Given the description of an element on the screen output the (x, y) to click on. 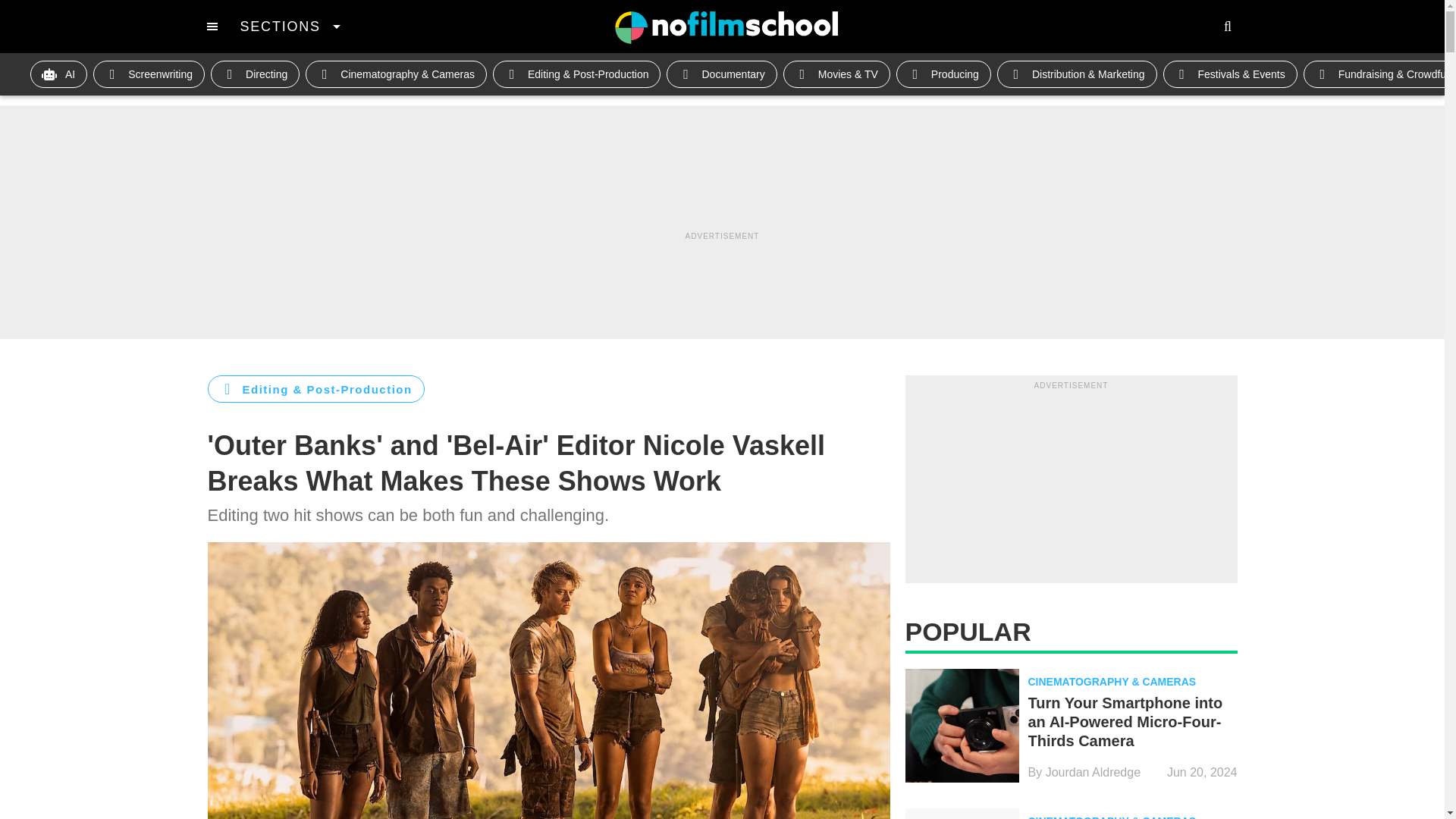
AI (58, 73)
Directing (255, 73)
Screenwriting (149, 73)
NO FILM SCHOOL (725, 27)
SECTIONS (289, 26)
Documentary (721, 73)
NO FILM SCHOOL (725, 27)
Producing (943, 73)
